Given the description of an element on the screen output the (x, y) to click on. 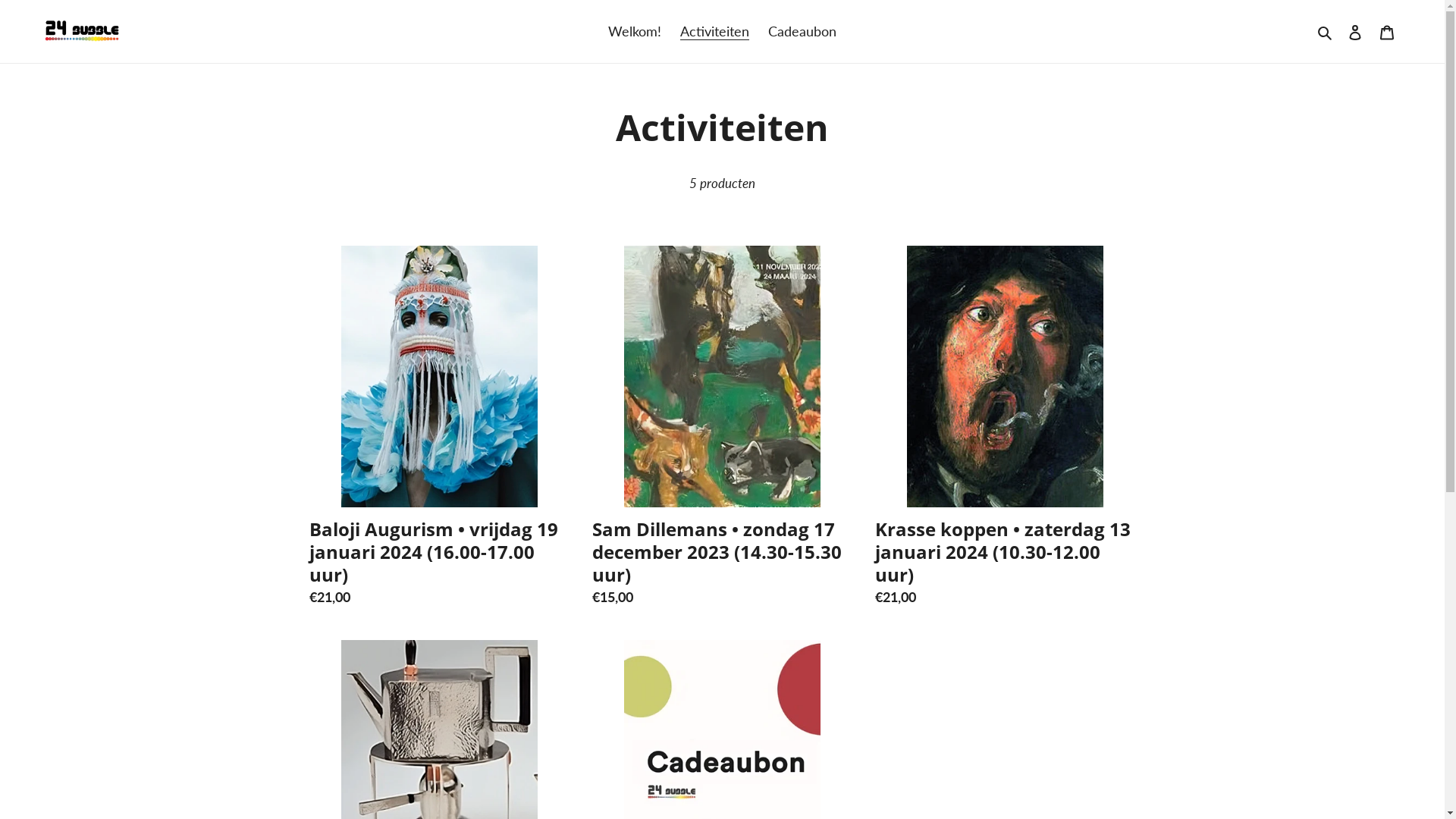
Welkom! Element type: text (634, 30)
Activiteiten Element type: text (714, 30)
Zoeken Element type: text (1325, 31)
Cadeaubon Element type: text (802, 30)
Winkelwagen Element type: text (1386, 31)
Inloggen Element type: text (1355, 31)
